Given the description of an element on the screen output the (x, y) to click on. 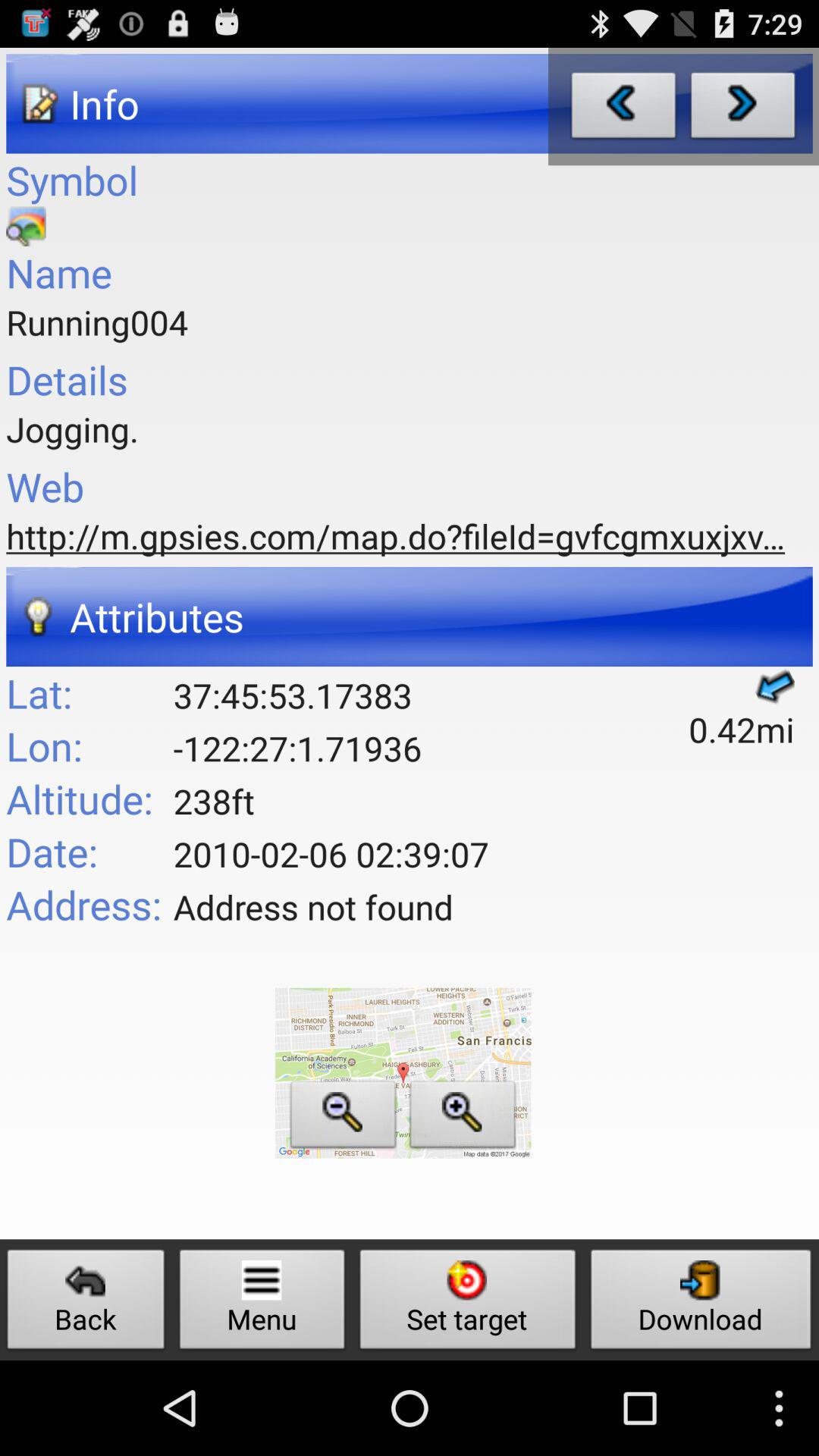
swipe until download item (701, 1303)
